Given the description of an element on the screen output the (x, y) to click on. 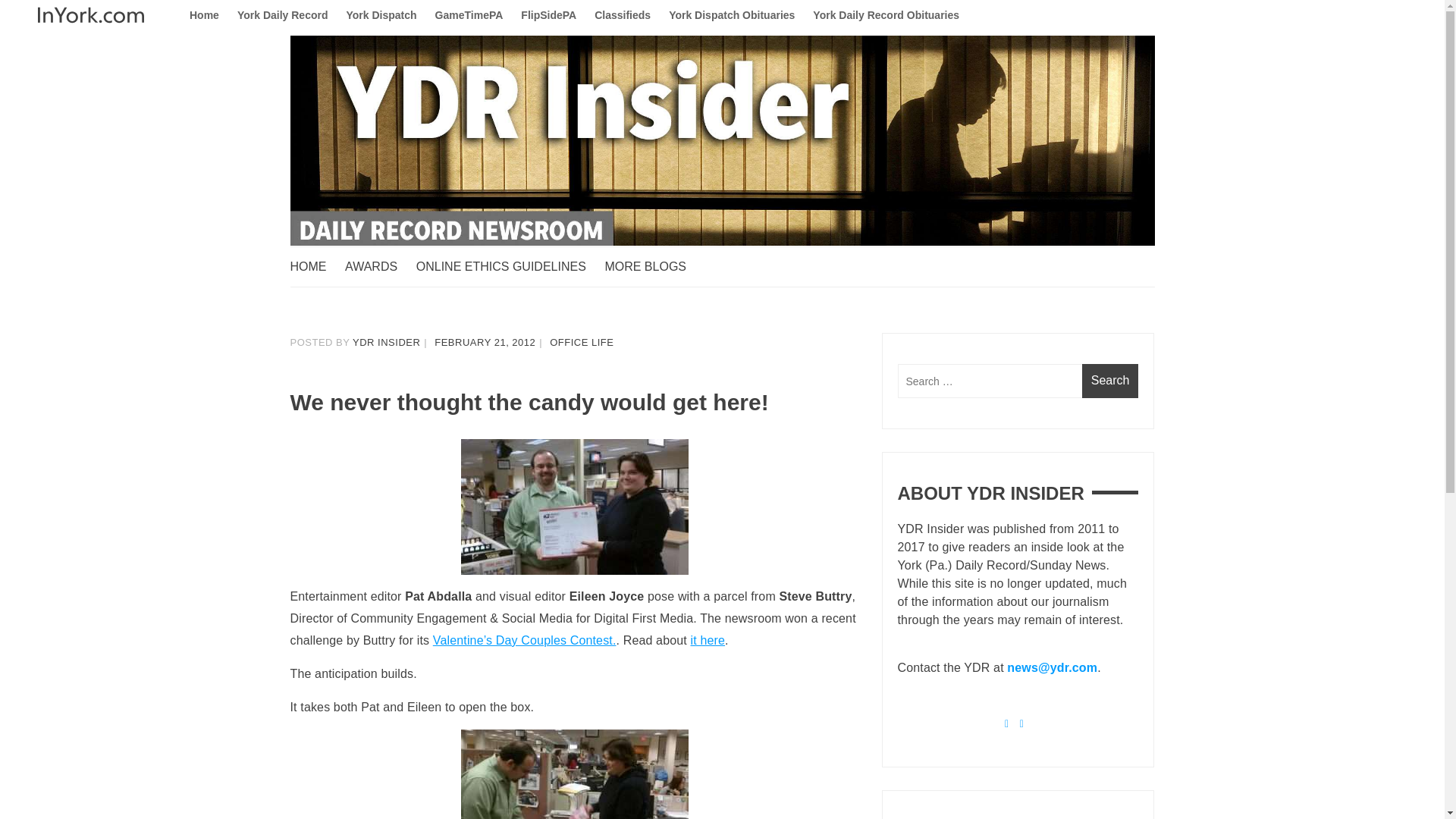
YDR Insider (357, 275)
MORE BLOGS (652, 266)
ONLINE ETHICS GUIDELINES (508, 266)
OFFICE LIFE (581, 342)
AWARDS (378, 266)
Search (1109, 380)
Search (1109, 380)
YDR INSIDER (386, 342)
it here (707, 640)
candynew1 (574, 506)
